Given the description of an element on the screen output the (x, y) to click on. 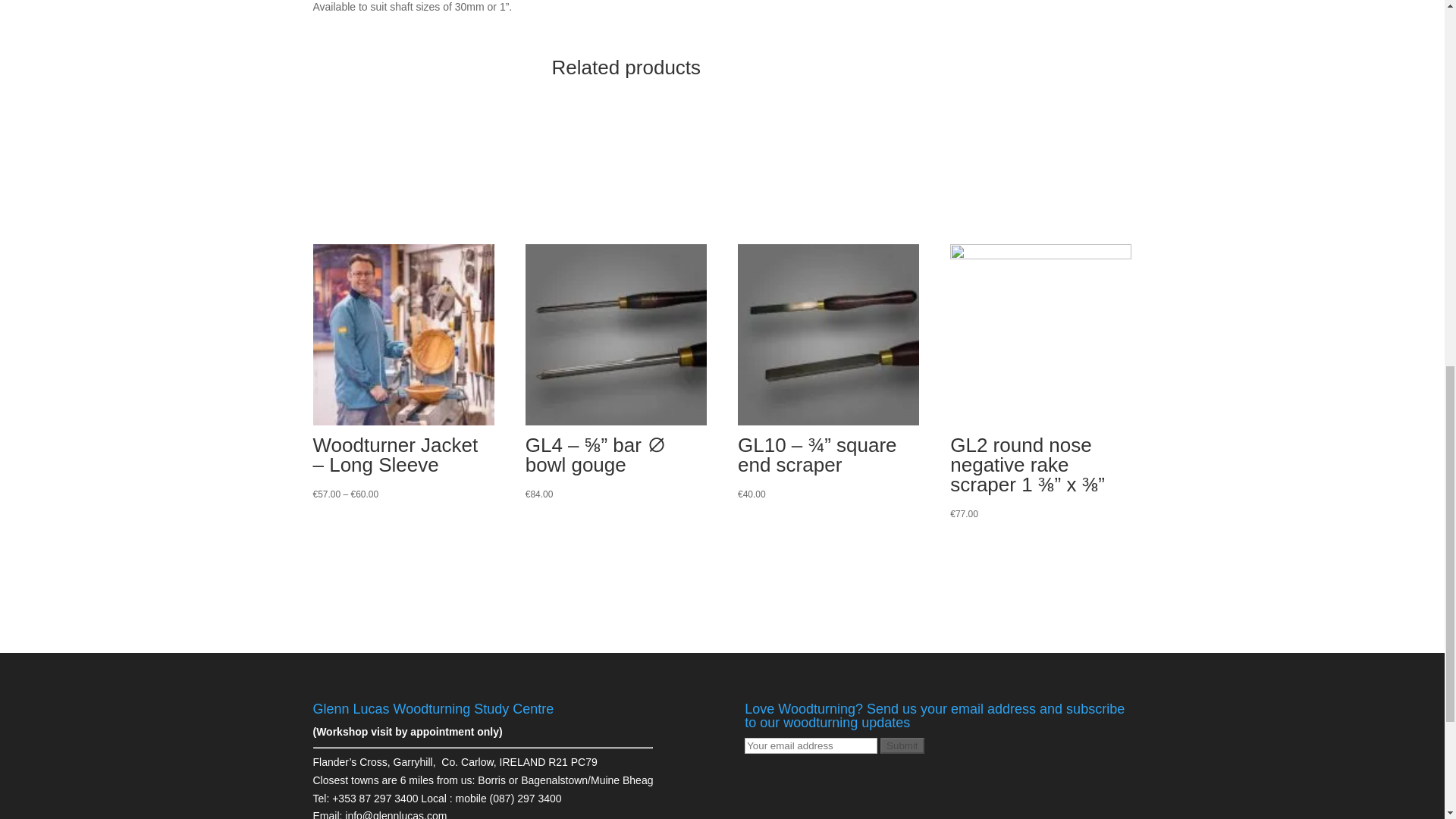
Submit (901, 745)
Submit (901, 745)
